Given the description of an element on the screen output the (x, y) to click on. 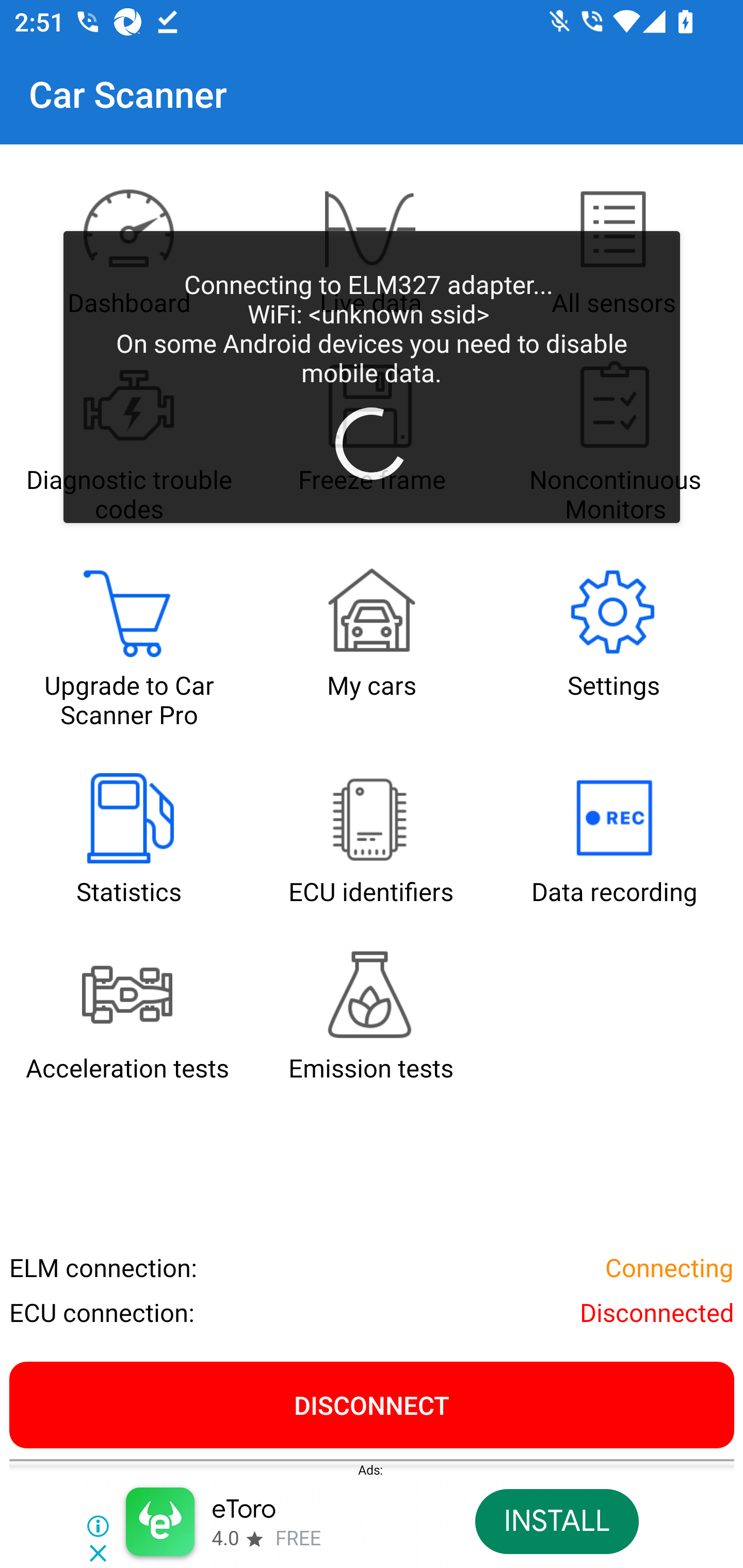
DISCONNECT (371, 1404)
INSTALL (556, 1521)
eToro (243, 1509)
4.0 (224, 1539)
FREE (298, 1539)
